Given the description of an element on the screen output the (x, y) to click on. 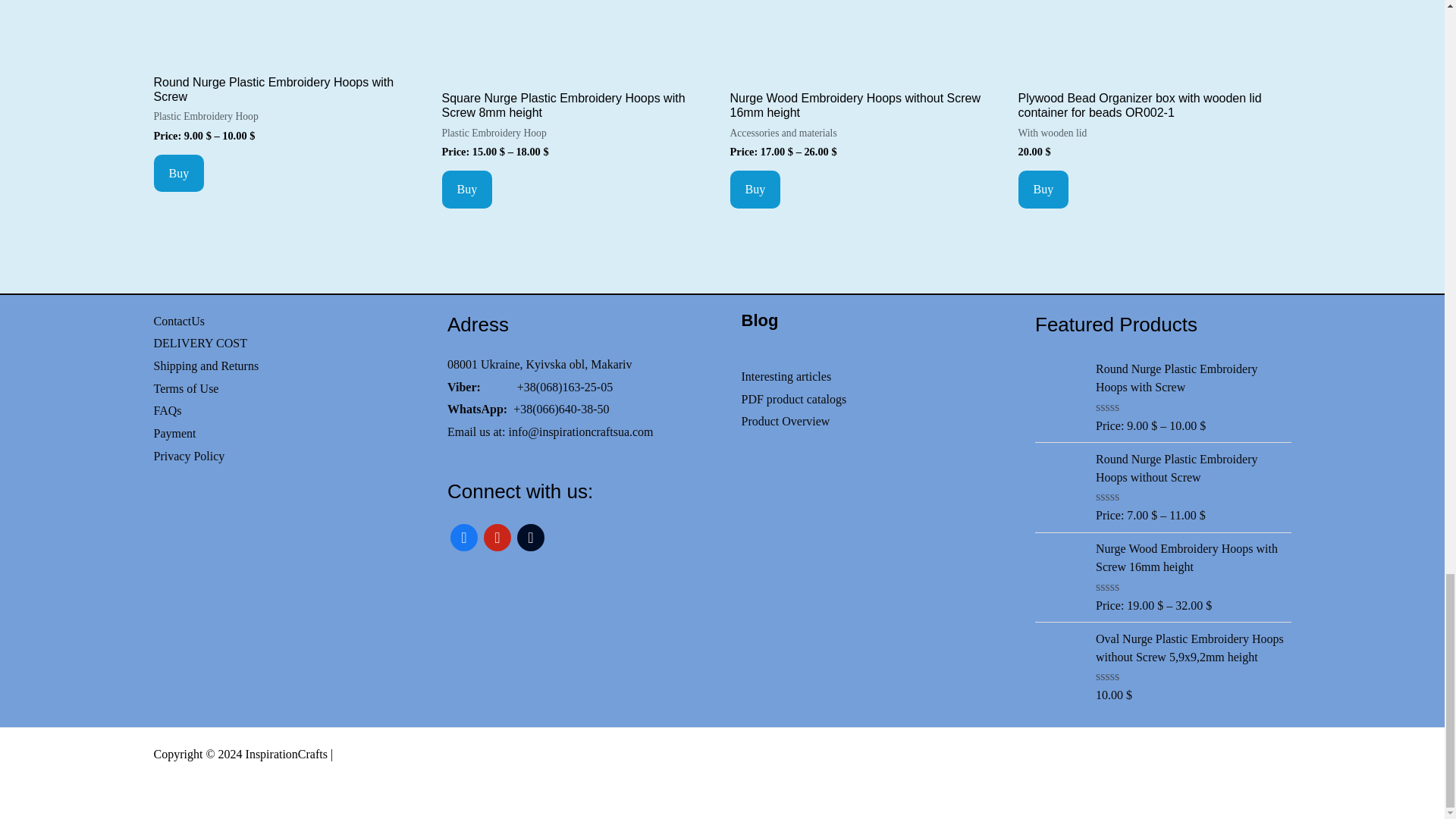
Instagram (530, 535)
Facebook (463, 535)
Default Label (497, 535)
